Given the description of an element on the screen output the (x, y) to click on. 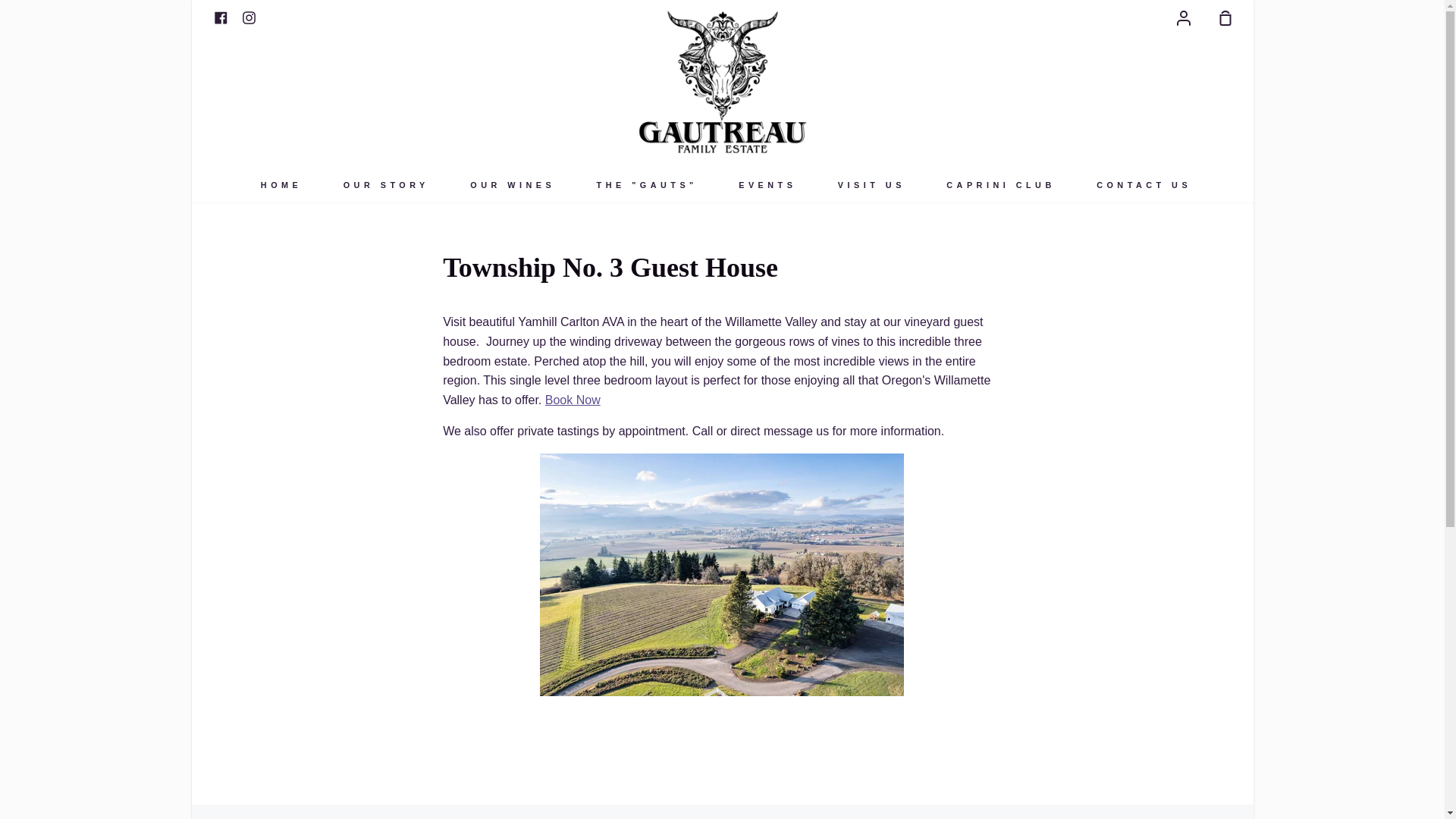
Gautreau Family Estate Wines  on Facebook (220, 16)
OUR WINES (512, 184)
VISIT US (871, 184)
Facebook (220, 16)
Book Now (571, 399)
Gautreau Family Estate Wines  on Instagram (249, 16)
HOME (281, 184)
THE "GAUTS" (646, 184)
Township No 3 Guest House  (571, 399)
EVENTS (767, 184)
CAPRINI CLUB (1000, 184)
Instagram (249, 16)
OUR STORY (385, 184)
